Given the description of an element on the screen output the (x, y) to click on. 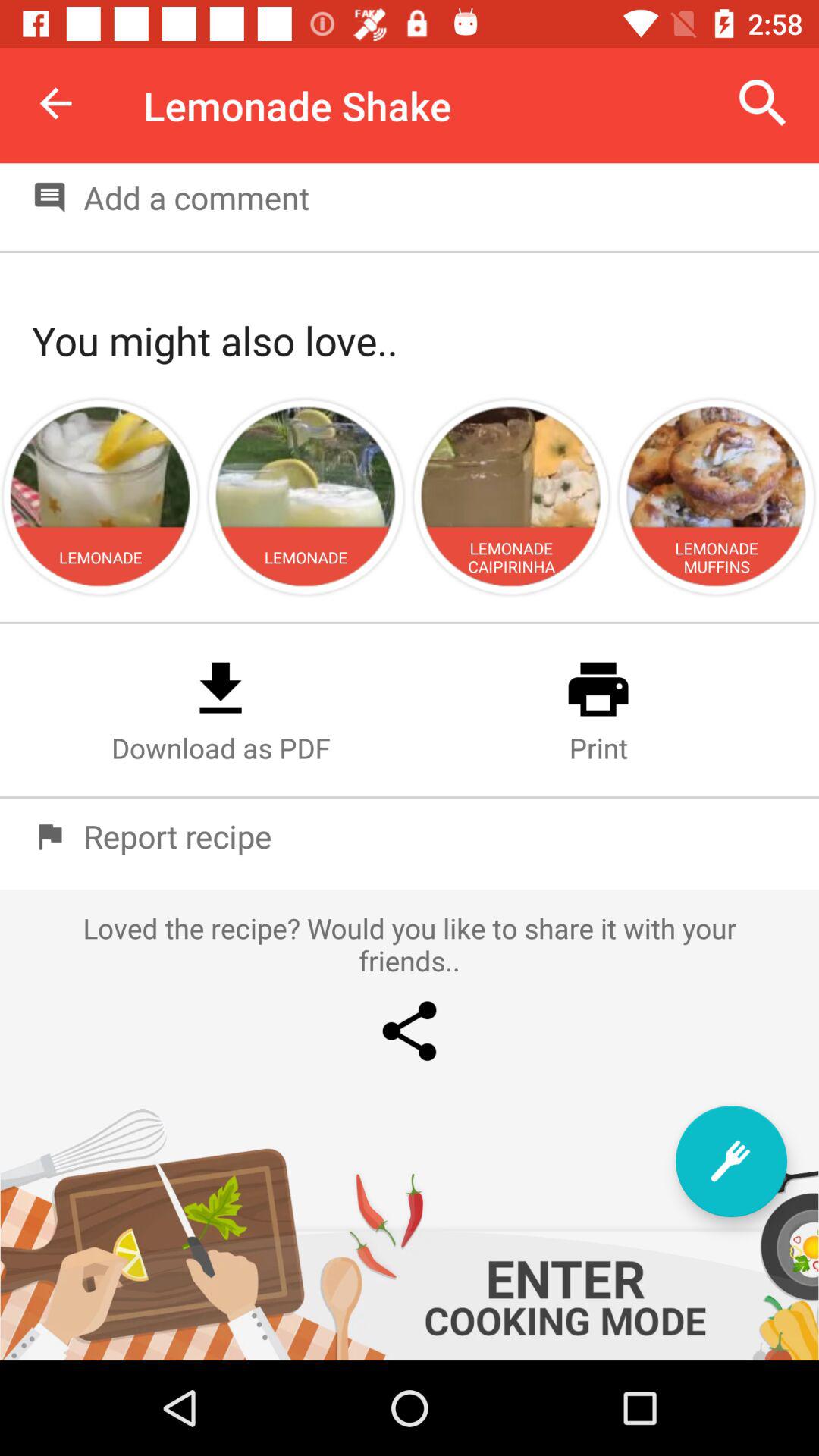
select item (731, 1161)
